Given the description of an element on the screen output the (x, y) to click on. 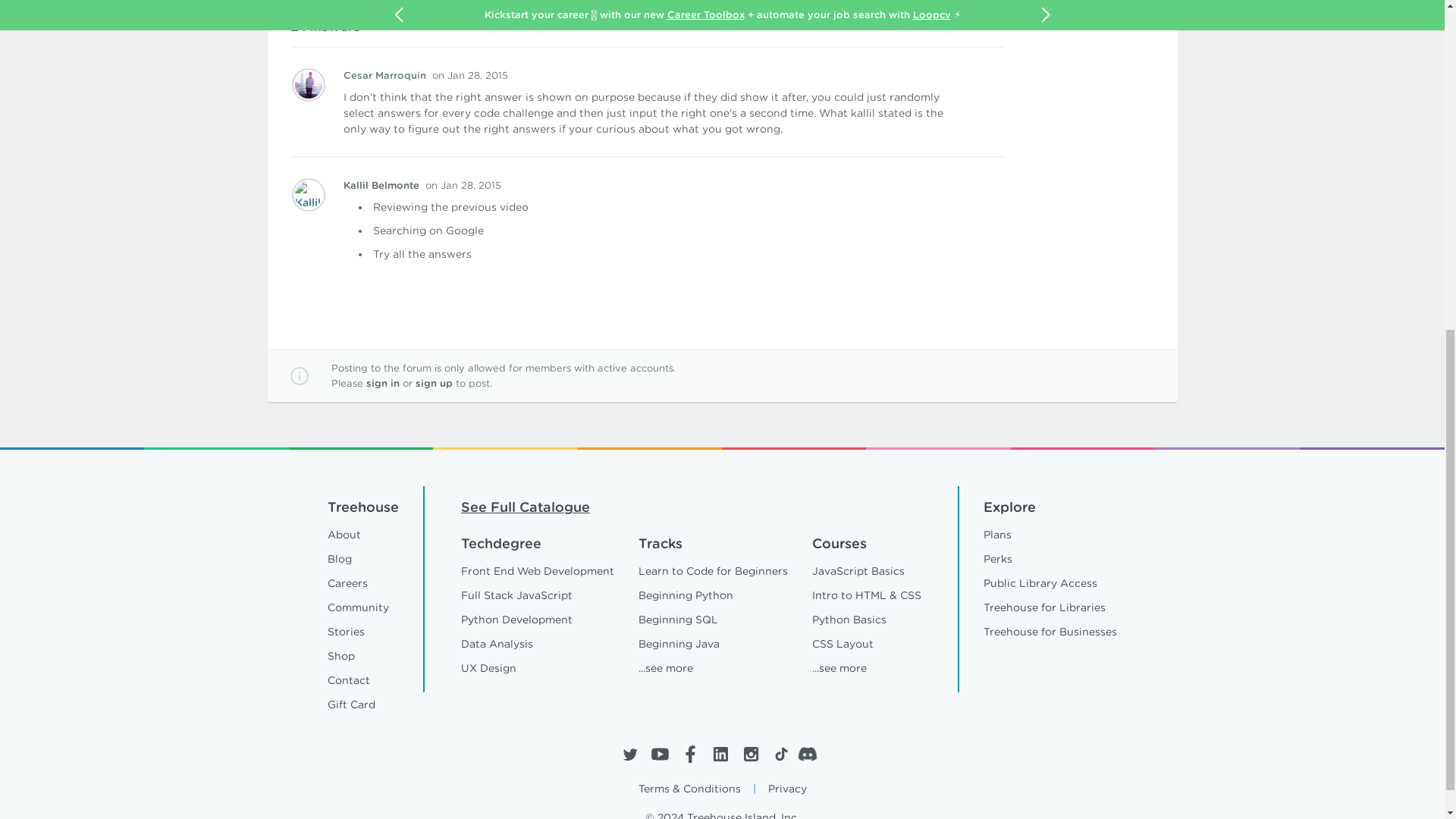
LinkedIn (719, 754)
Instagram (749, 754)
Facebook (690, 754)
Twitter (628, 754)
LinkedIn (719, 754)
January 28, 2015 at 8:49am  (470, 75)
TikTok (780, 754)
January 28, 2015 at 6:49am  (462, 184)
Discord (810, 754)
Twitter (628, 754)
Instagram (749, 754)
YouTube (659, 754)
YouTube (659, 754)
Facebook (690, 754)
